Given the description of an element on the screen output the (x, y) to click on. 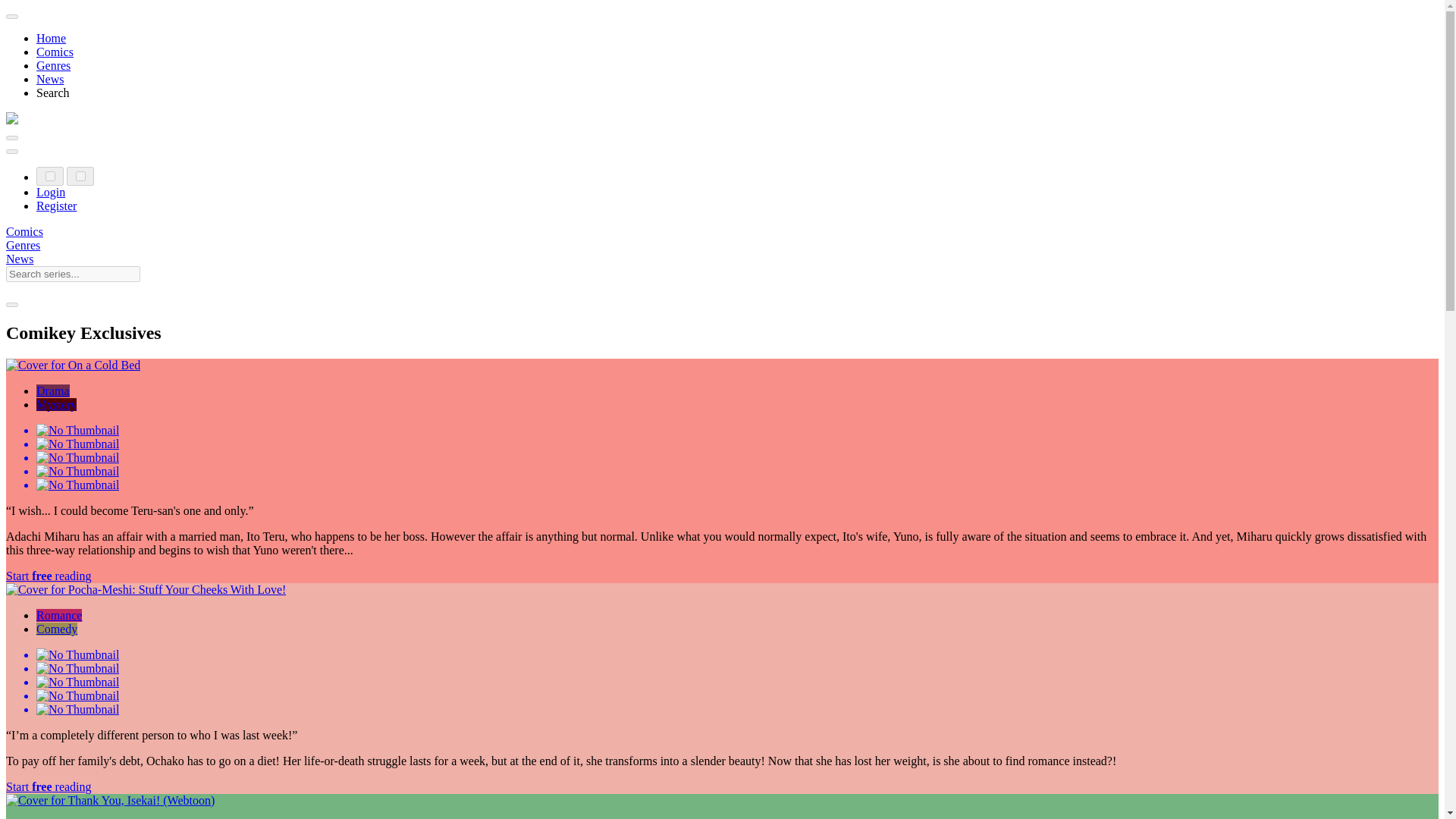
Login (50, 192)
Register (56, 205)
To be or not to be... (52, 390)
Genres (22, 245)
Romance (58, 615)
News (50, 78)
Genres (52, 65)
Read the first chapter for free! (48, 575)
Start free reading (48, 786)
Go Home (11, 119)
